Given the description of an element on the screen output the (x, y) to click on. 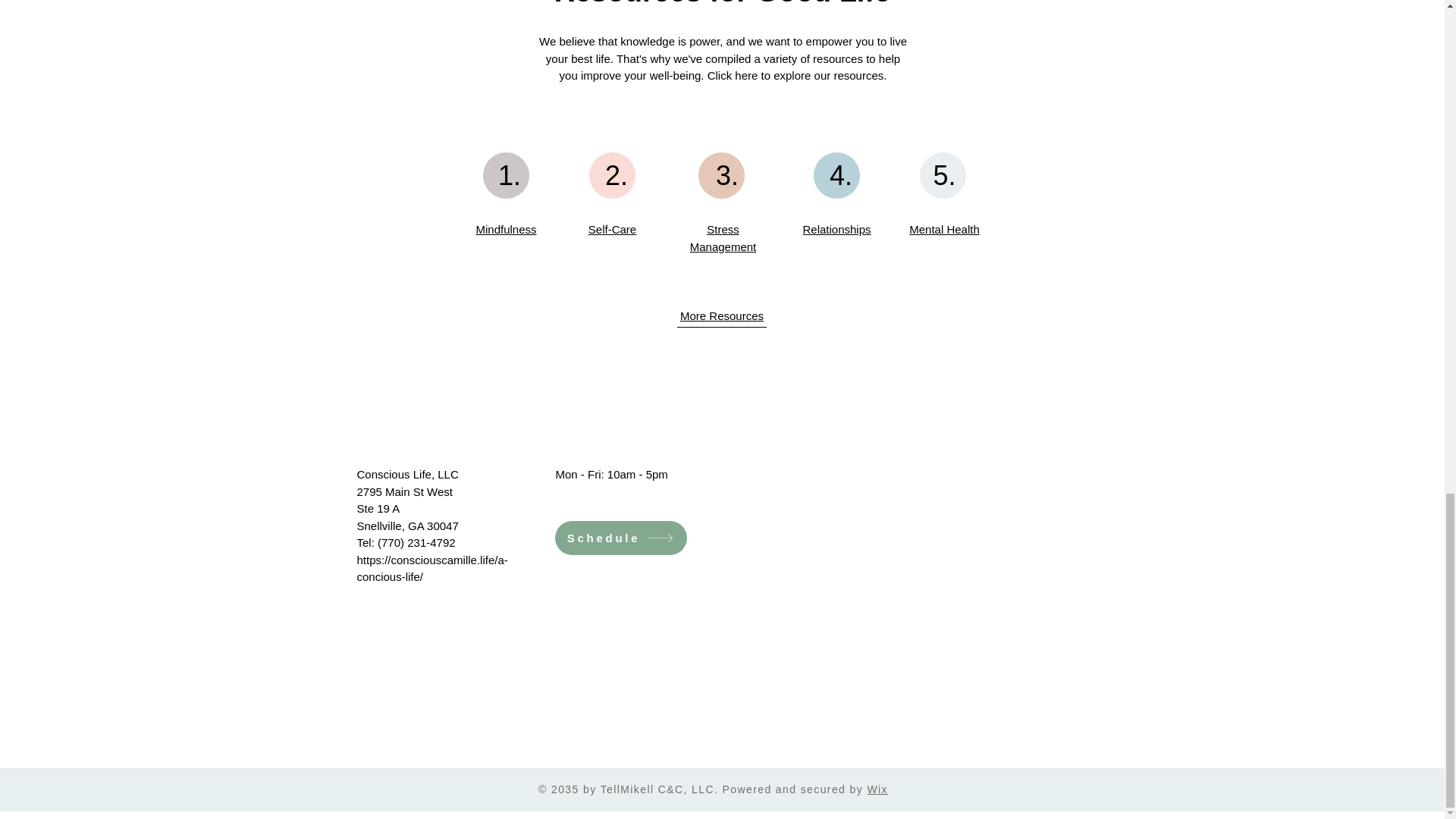
Relationships (836, 228)
Mindfulness (505, 228)
Schedule (620, 537)
Wix (877, 788)
Stress Management (723, 237)
Mental Health (943, 228)
More Resources (720, 315)
Self-Care (612, 228)
